Given the description of an element on the screen output the (x, y) to click on. 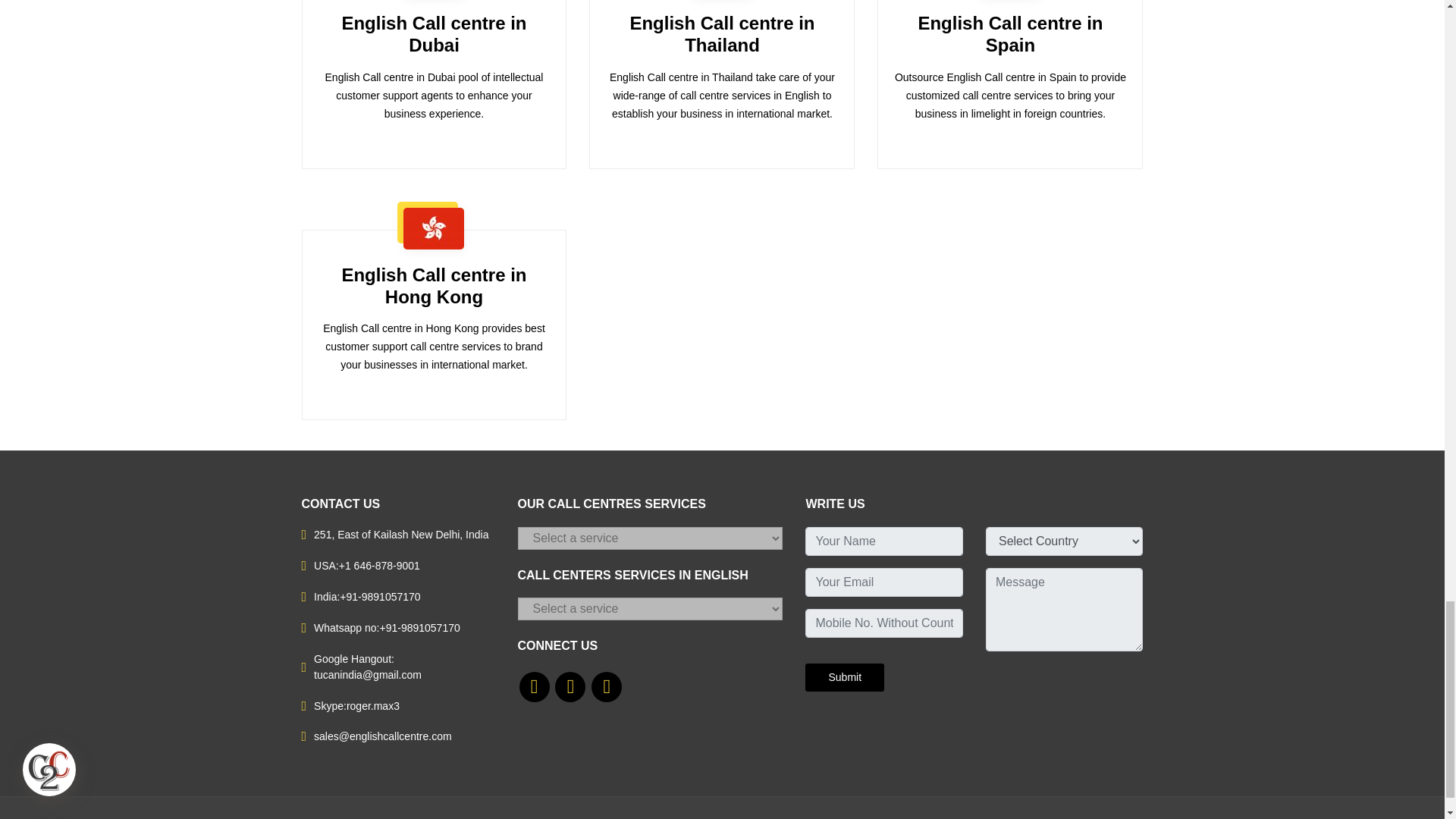
WRITE US (844, 677)
